Given the description of an element on the screen output the (x, y) to click on. 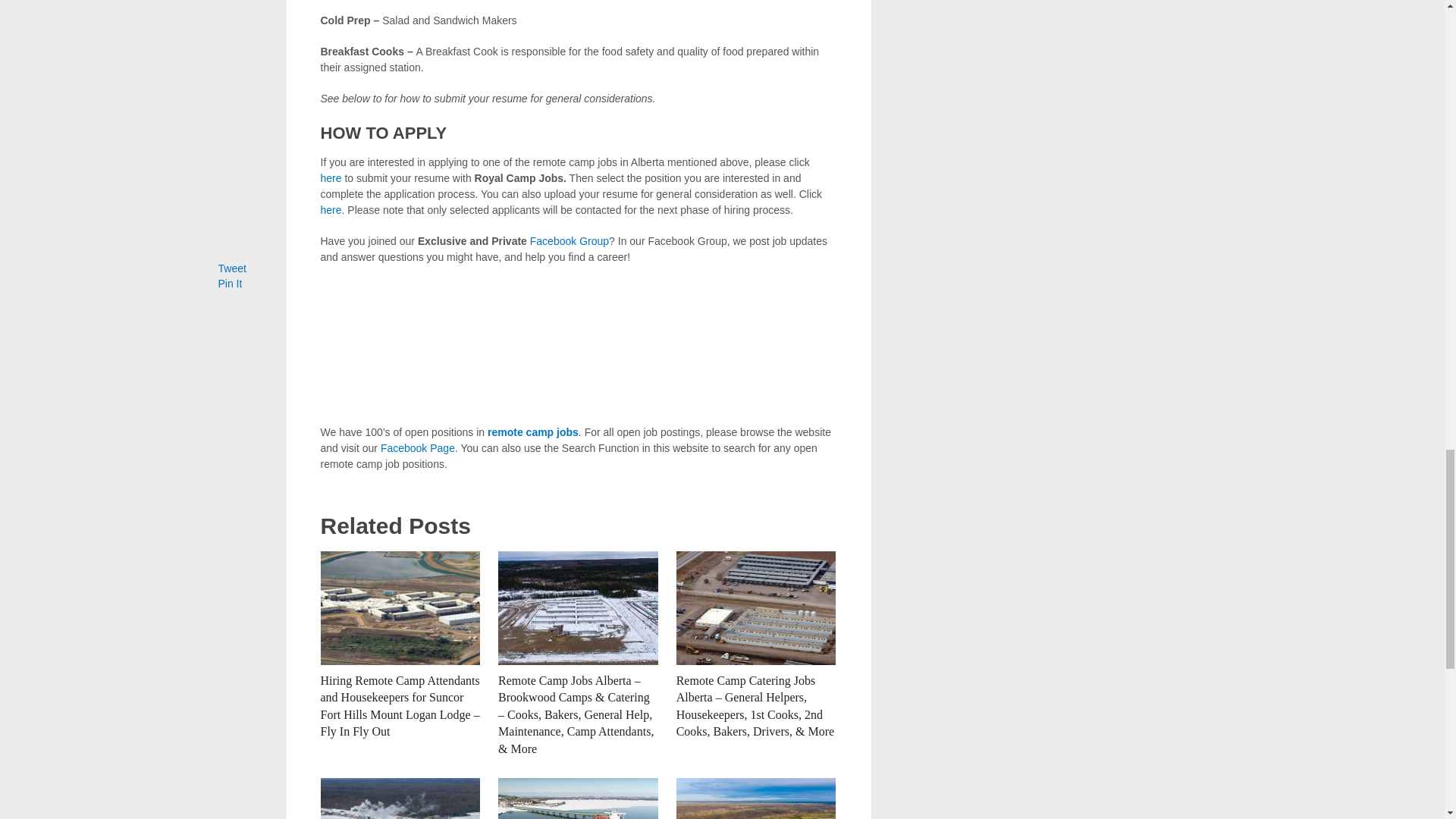
here (330, 209)
remote camp jobs (532, 431)
Advertisement (577, 344)
here (330, 177)
Facebook Group (568, 241)
